Given the description of an element on the screen output the (x, y) to click on. 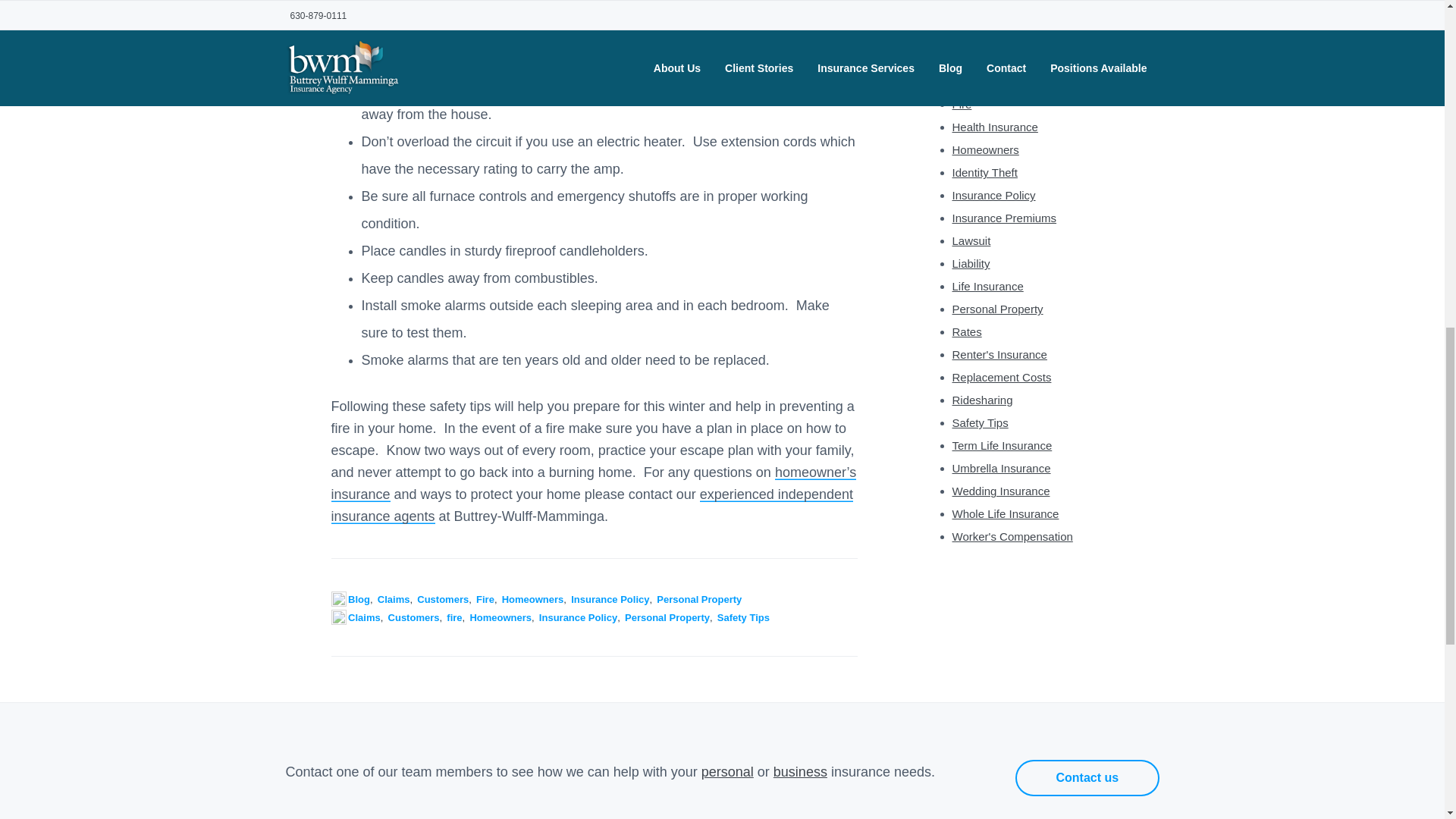
Personal Property (667, 617)
Customers (413, 617)
experienced independent insurance agents (590, 505)
Claims (969, 35)
Homeowners (499, 617)
fire (453, 617)
Insurance Policy (609, 599)
Personal Property (698, 599)
Insurance Policy (577, 617)
Fire (485, 599)
